Given the description of an element on the screen output the (x, y) to click on. 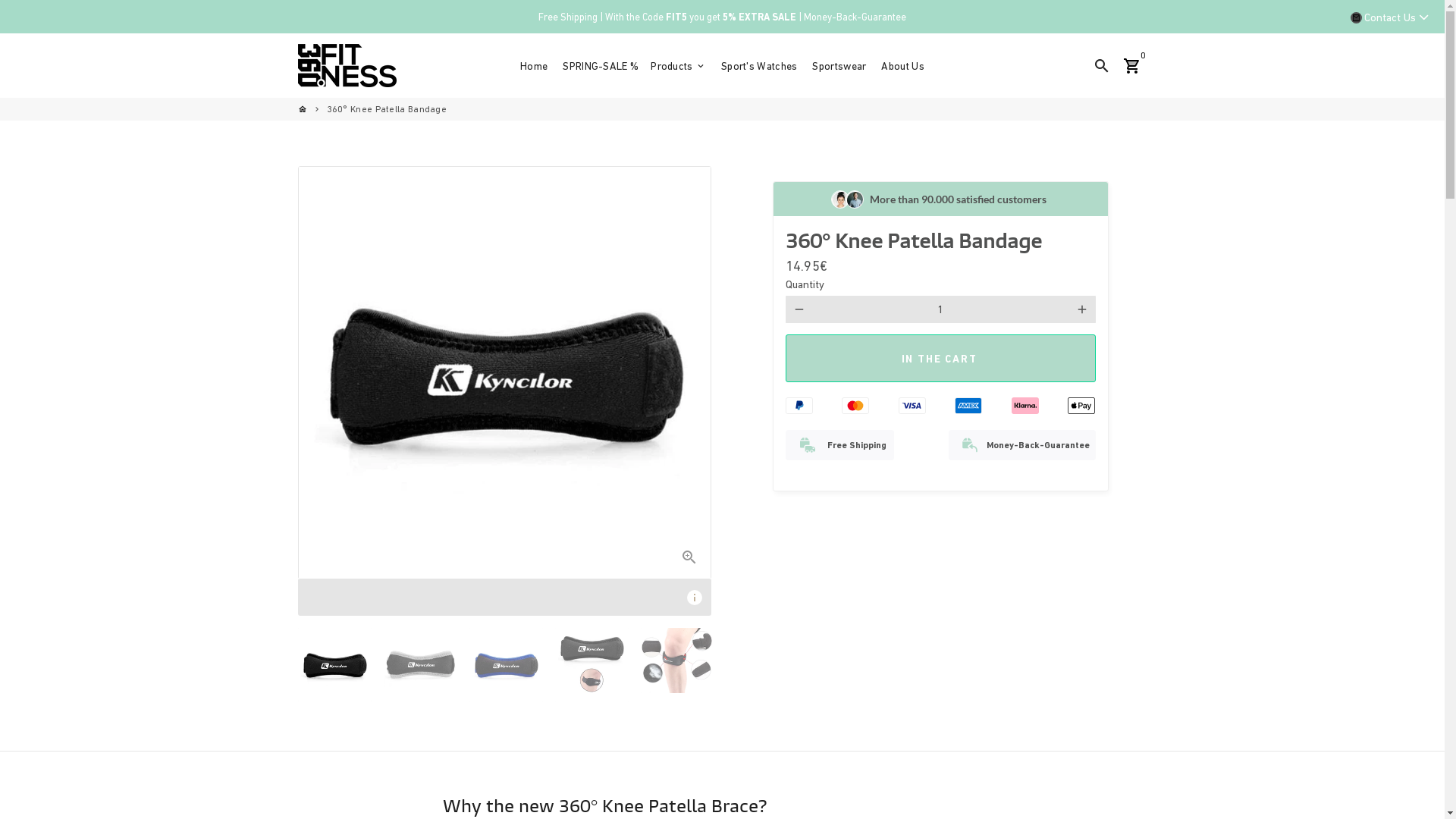
SPRING-SALE % Element type: text (600, 65)
Products keyboard_arrow_down Element type: text (678, 65)
About Us Element type: text (902, 65)
Contact Us Element type: text (1384, 17)
remove Element type: text (798, 309)
Skip to content Element type: text (0, 0)
IN THE CART Element type: text (940, 358)
Home Element type: text (533, 65)
home Element type: text (301, 108)
shopping_cart
0 Element type: text (1131, 65)
search Element type: text (1100, 65)
Sport's Watches Element type: text (759, 65)
add Element type: text (1081, 309)
Sportswear Element type: text (839, 65)
